Given the description of an element on the screen output the (x, y) to click on. 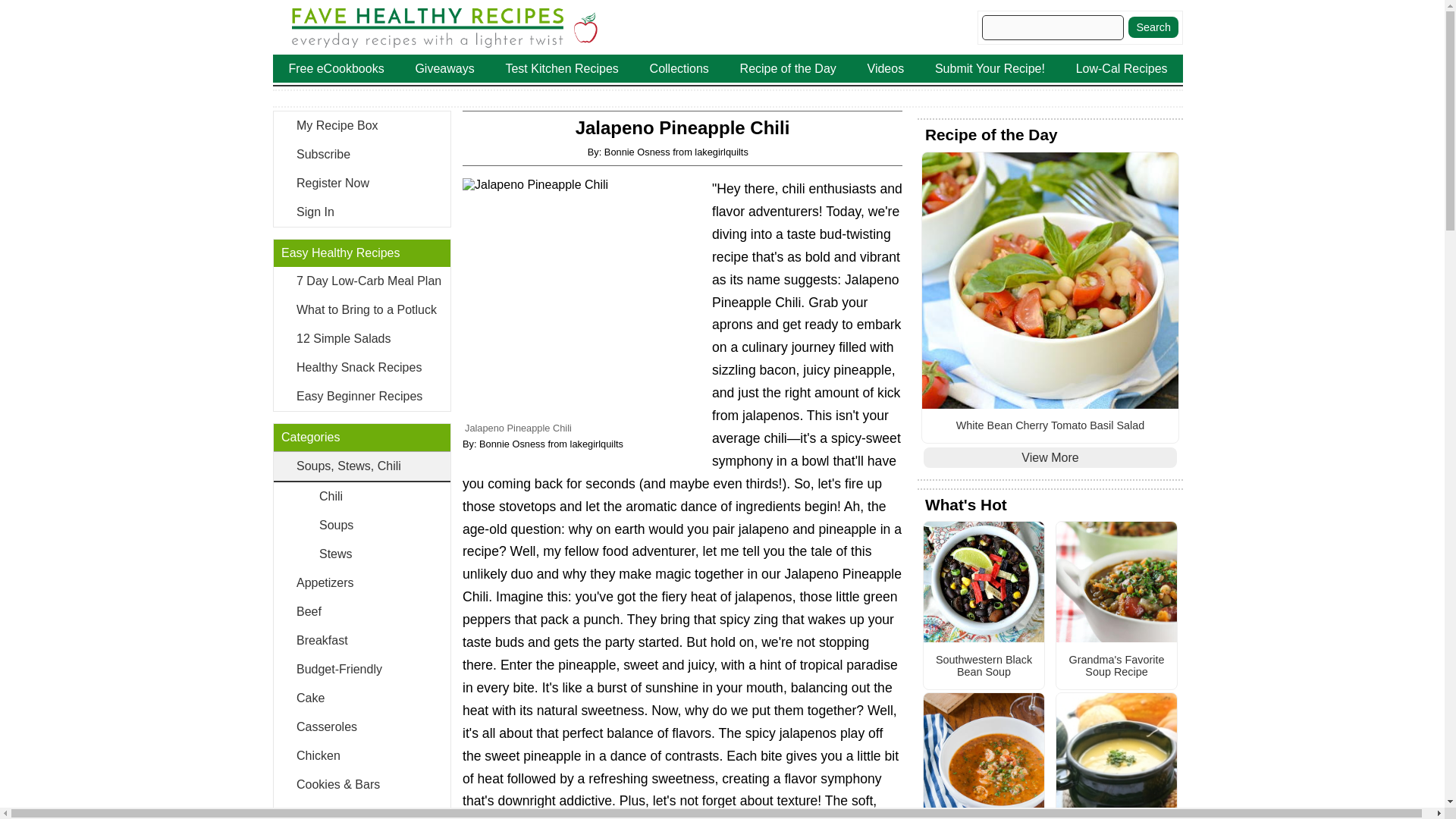
Jalapeno Pineapple Chili (583, 299)
Search (1152, 26)
Register Now (361, 183)
Sign In (361, 212)
My Recipe Box (361, 125)
Subscribe (361, 154)
